Given the description of an element on the screen output the (x, y) to click on. 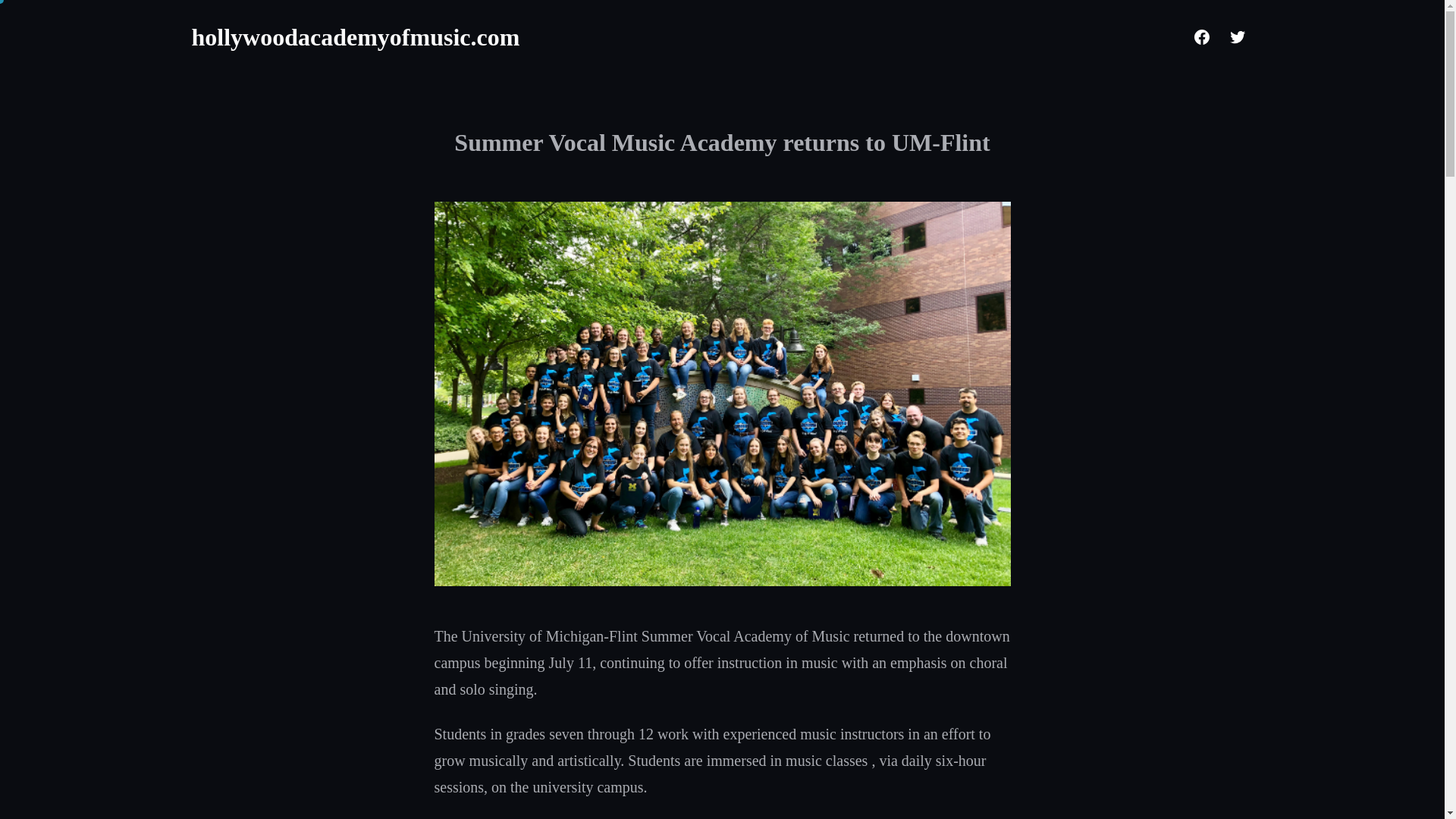
hollywoodacademyofmusic.com (354, 35)
Twitter (1236, 37)
Facebook (1201, 37)
